Given the description of an element on the screen output the (x, y) to click on. 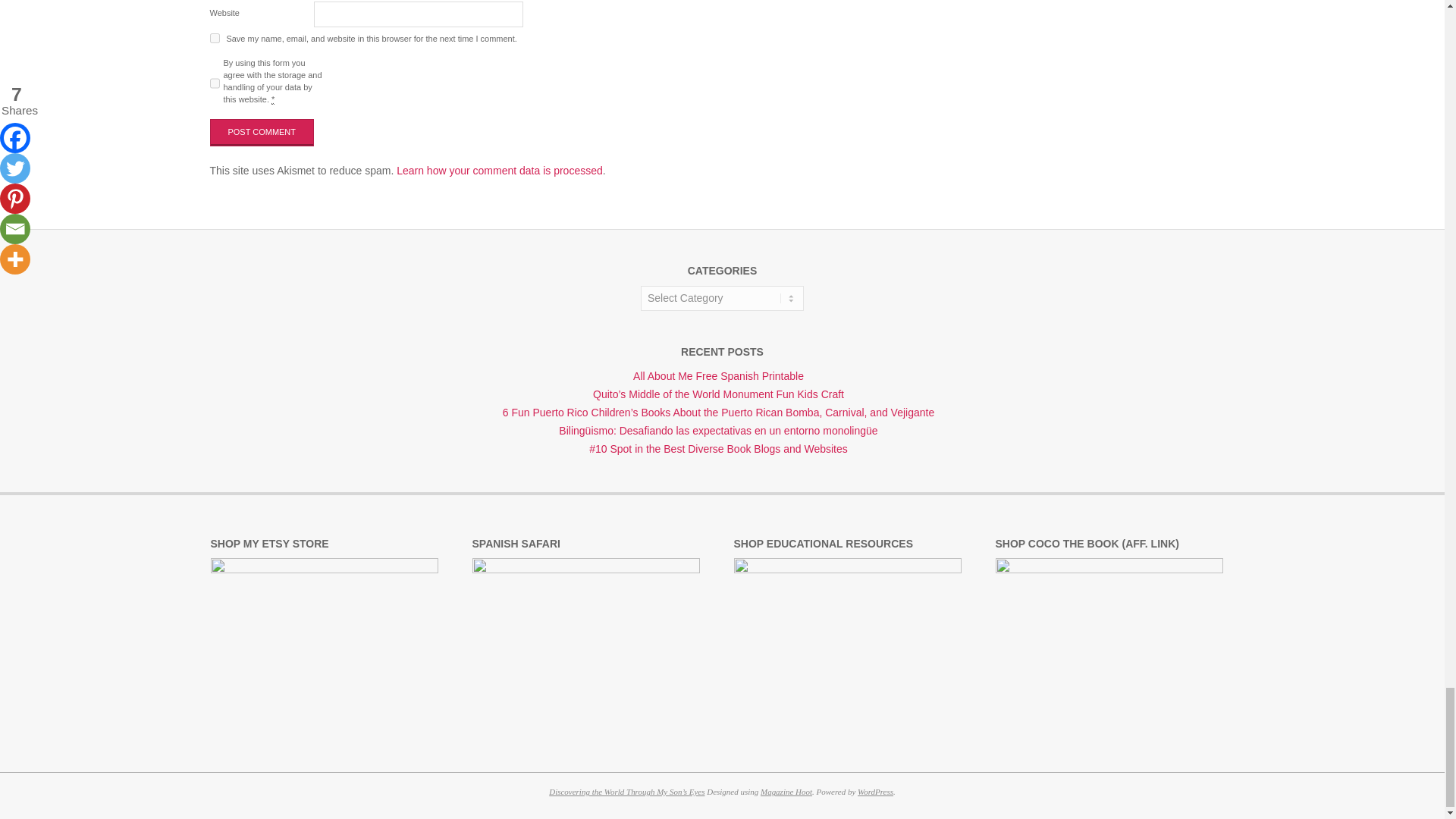
Post Comment (261, 132)
yes (214, 38)
